Given the description of an element on the screen output the (x, y) to click on. 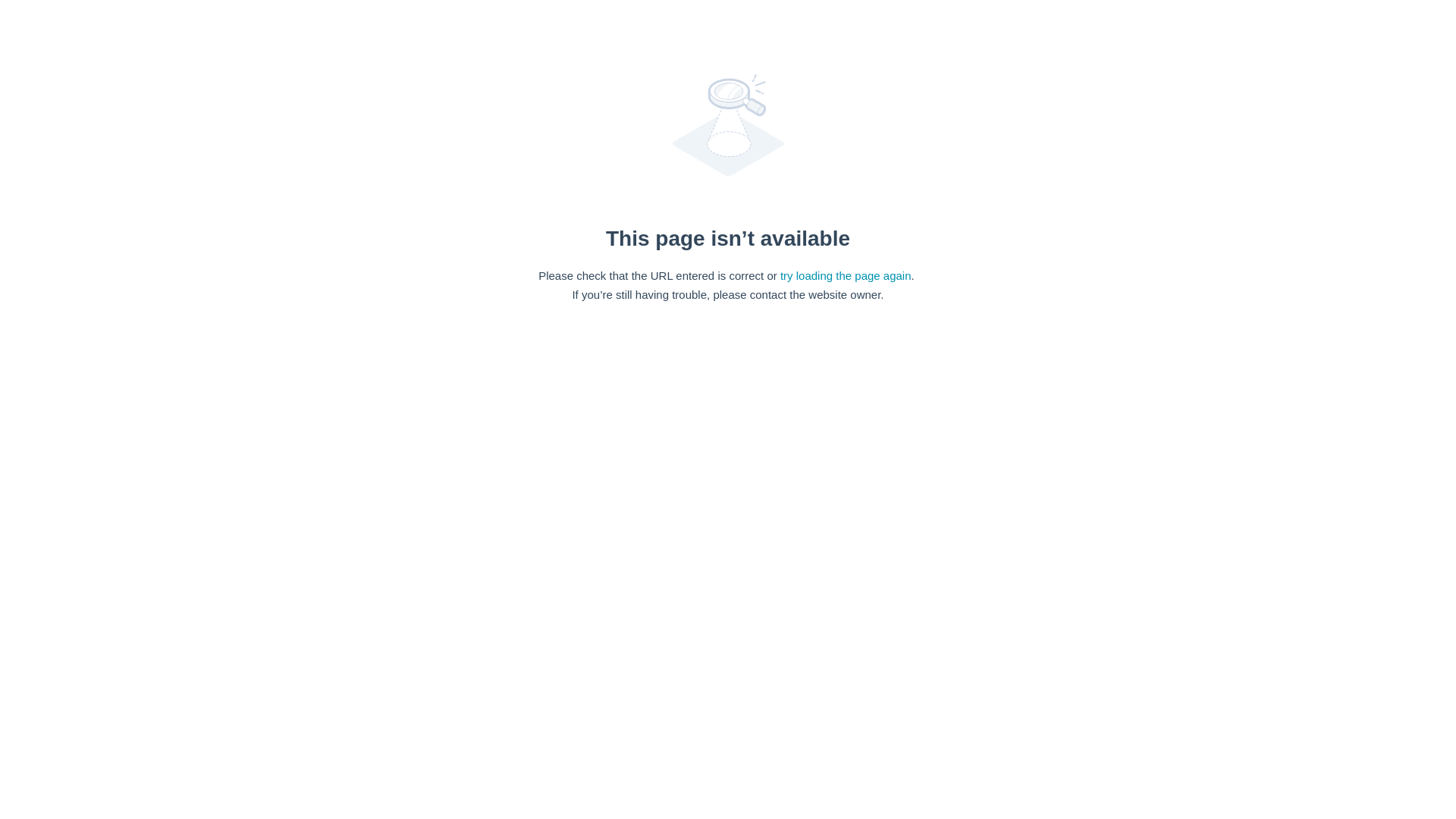
try loading the page again Element type: text (845, 274)
